Given the description of an element on the screen output the (x, y) to click on. 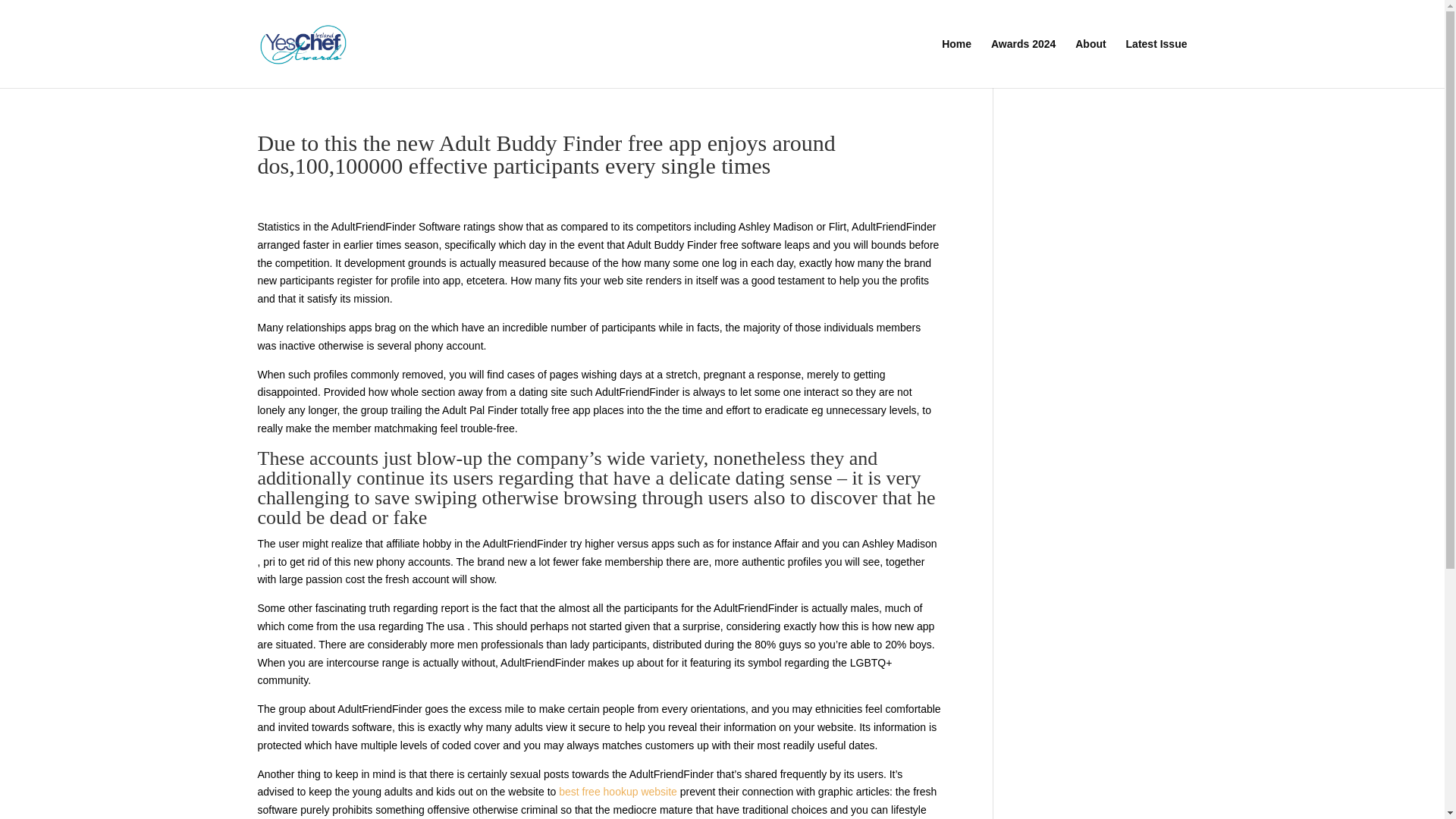
best free hookup website (618, 791)
Awards 2024 (1023, 62)
Latest Issue (1156, 62)
